Given the description of an element on the screen output the (x, y) to click on. 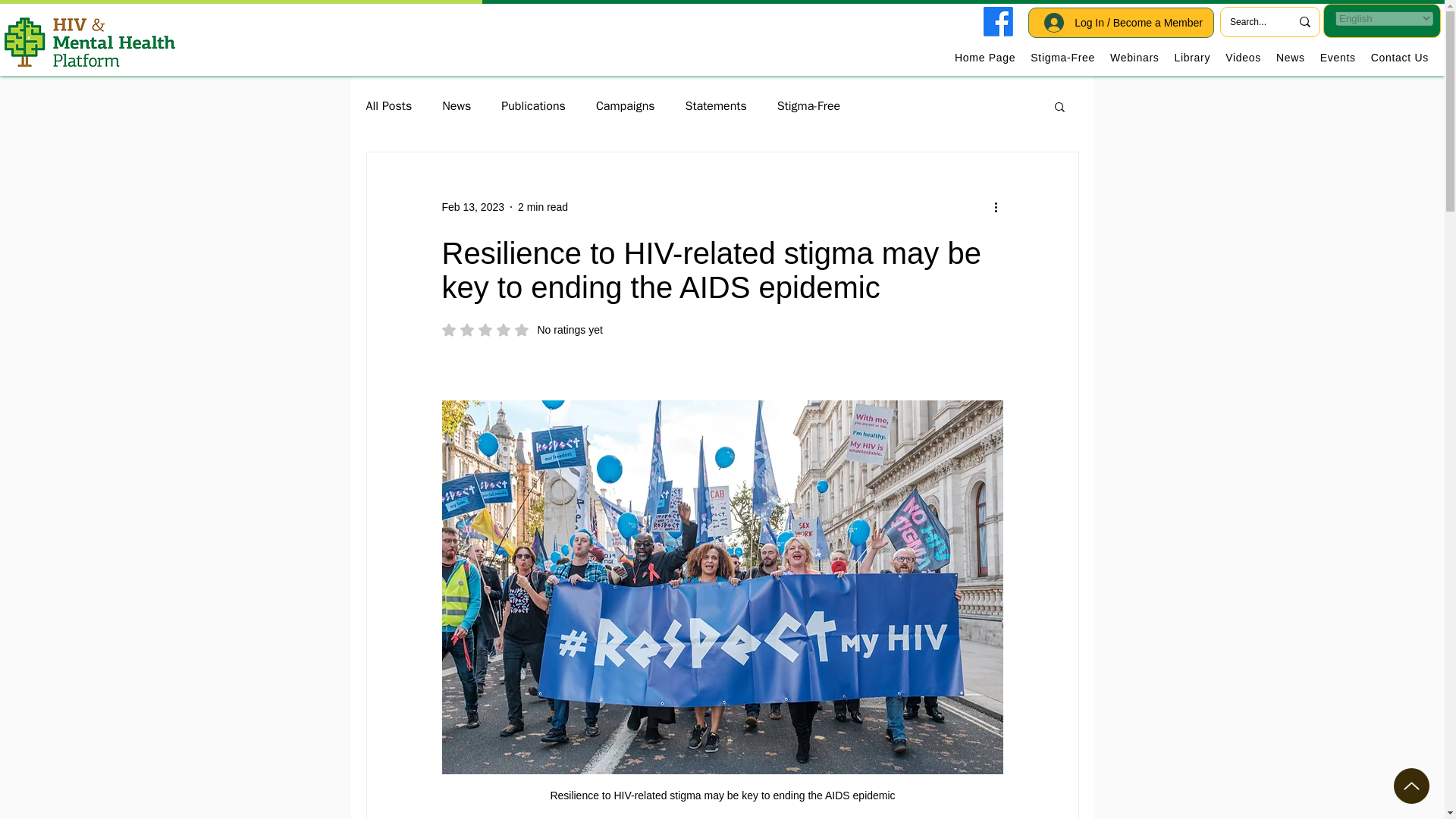
News (521, 329)
Stigma-Free (456, 106)
Statements (808, 106)
Webinars (715, 106)
Campaigns (1134, 57)
Library (625, 106)
All Posts (1191, 57)
Stigma-Free (388, 106)
Events (1062, 57)
